Given the description of an element on the screen output the (x, y) to click on. 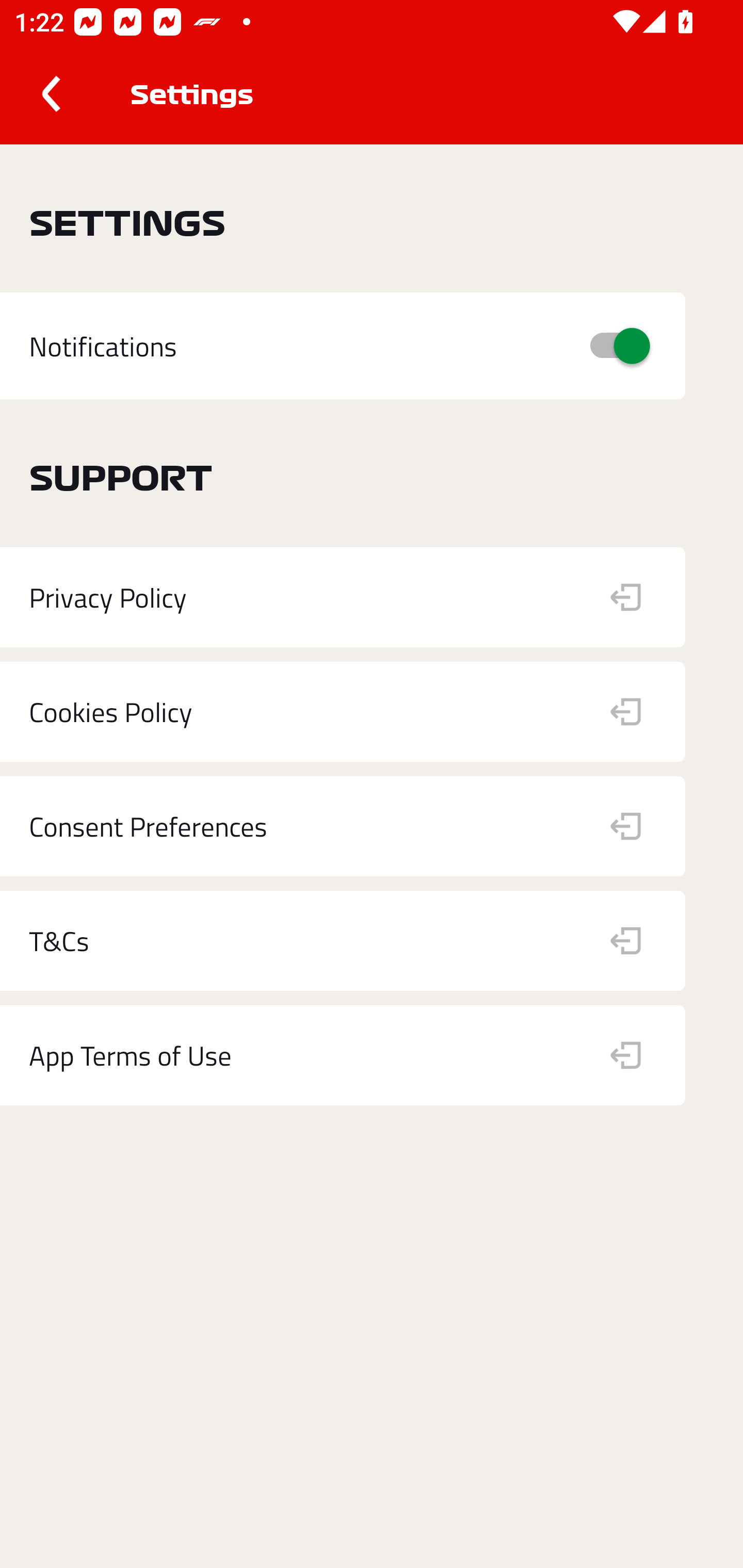
Navigate up (50, 93)
Notifications (342, 346)
Privacy Policy (342, 597)
Cookies Policy (342, 711)
Consent Preferences (342, 826)
T&Cs (342, 940)
App Terms of Use (342, 1055)
